Given the description of an element on the screen output the (x, y) to click on. 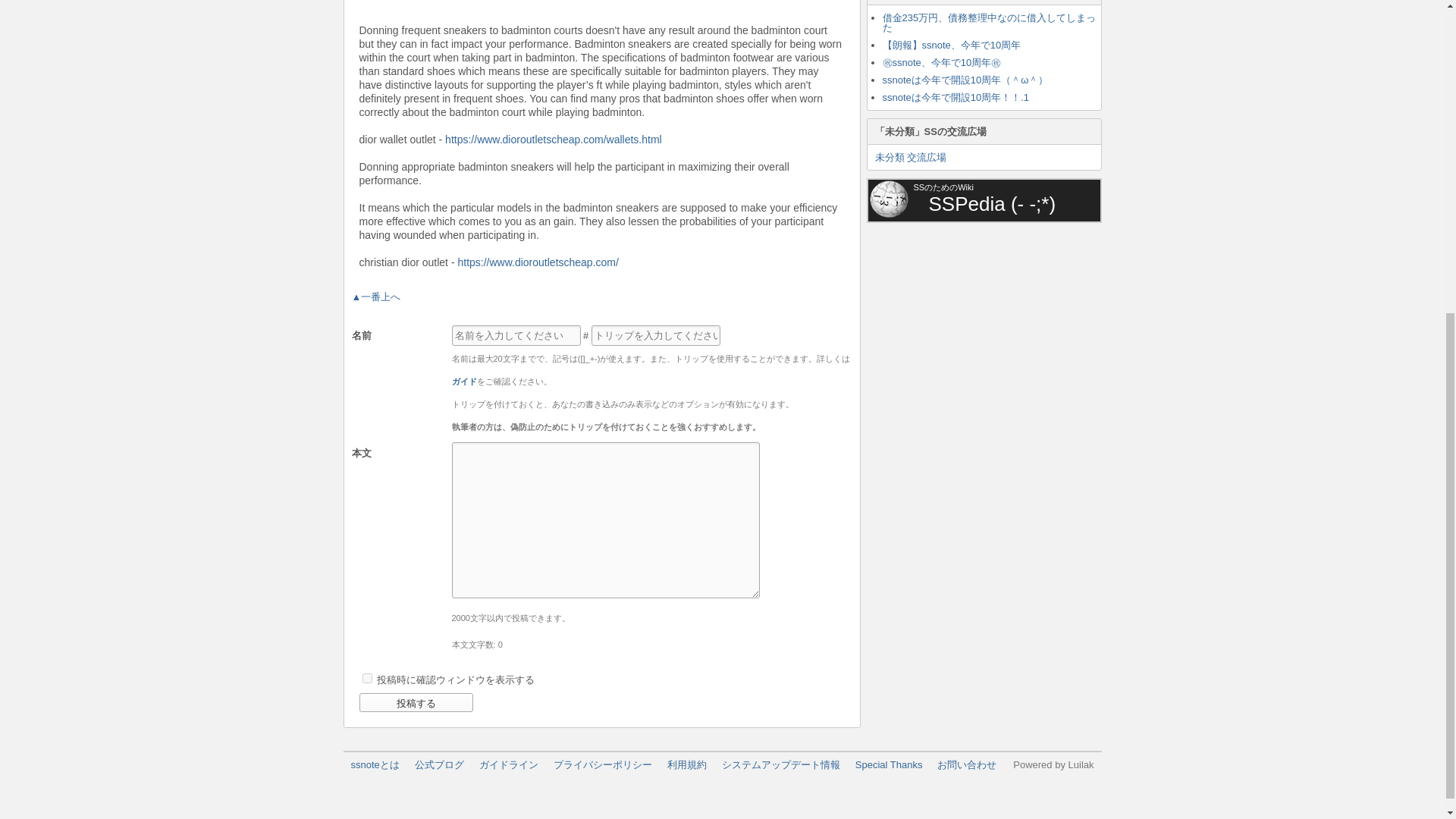
on (367, 678)
Advertisement (979, 325)
